Given the description of an element on the screen output the (x, y) to click on. 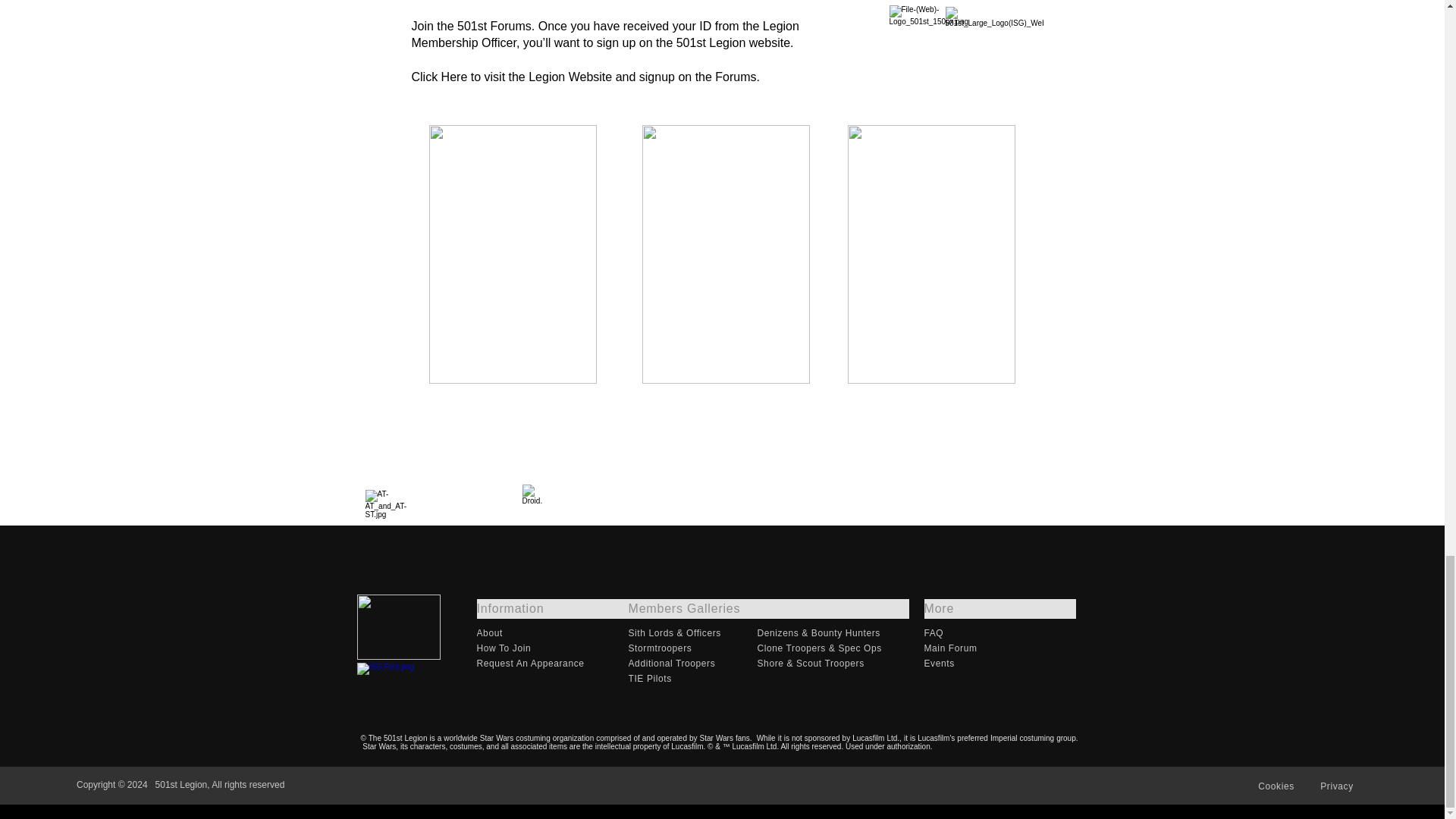
More (999, 608)
Members Galleries (767, 608)
TIE Pilots (692, 678)
Events (999, 663)
Click Here to visit the Legion Website (510, 76)
Stormtroopers (692, 648)
Information (551, 608)
FAQ (999, 632)
Request An Appearance (551, 663)
About (551, 632)
